Given the description of an element on the screen output the (x, y) to click on. 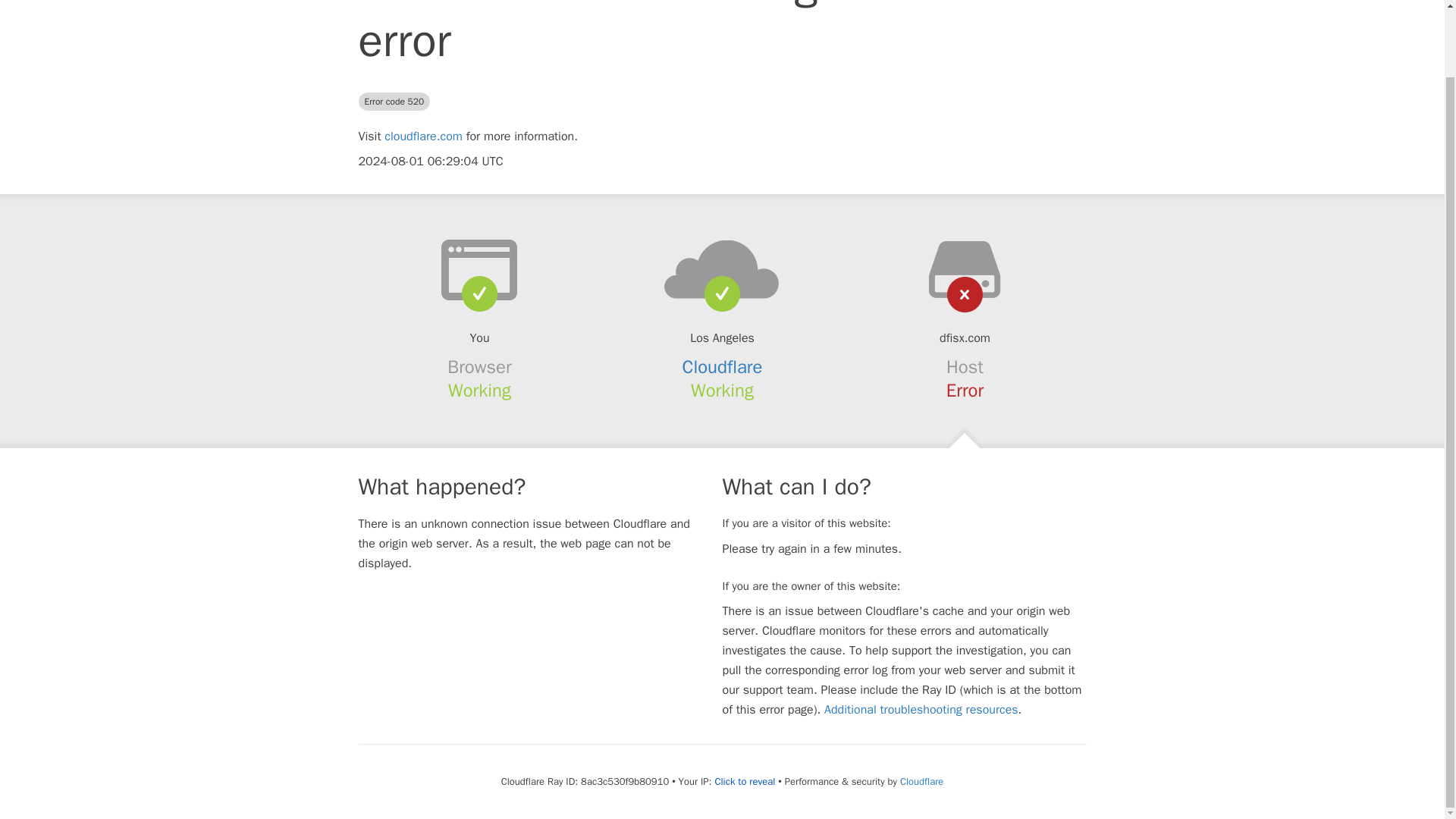
Cloudflare (921, 780)
Additional troubleshooting resources (920, 709)
Cloudflare (722, 366)
cloudflare.com (423, 136)
Click to reveal (744, 781)
